Given the description of an element on the screen output the (x, y) to click on. 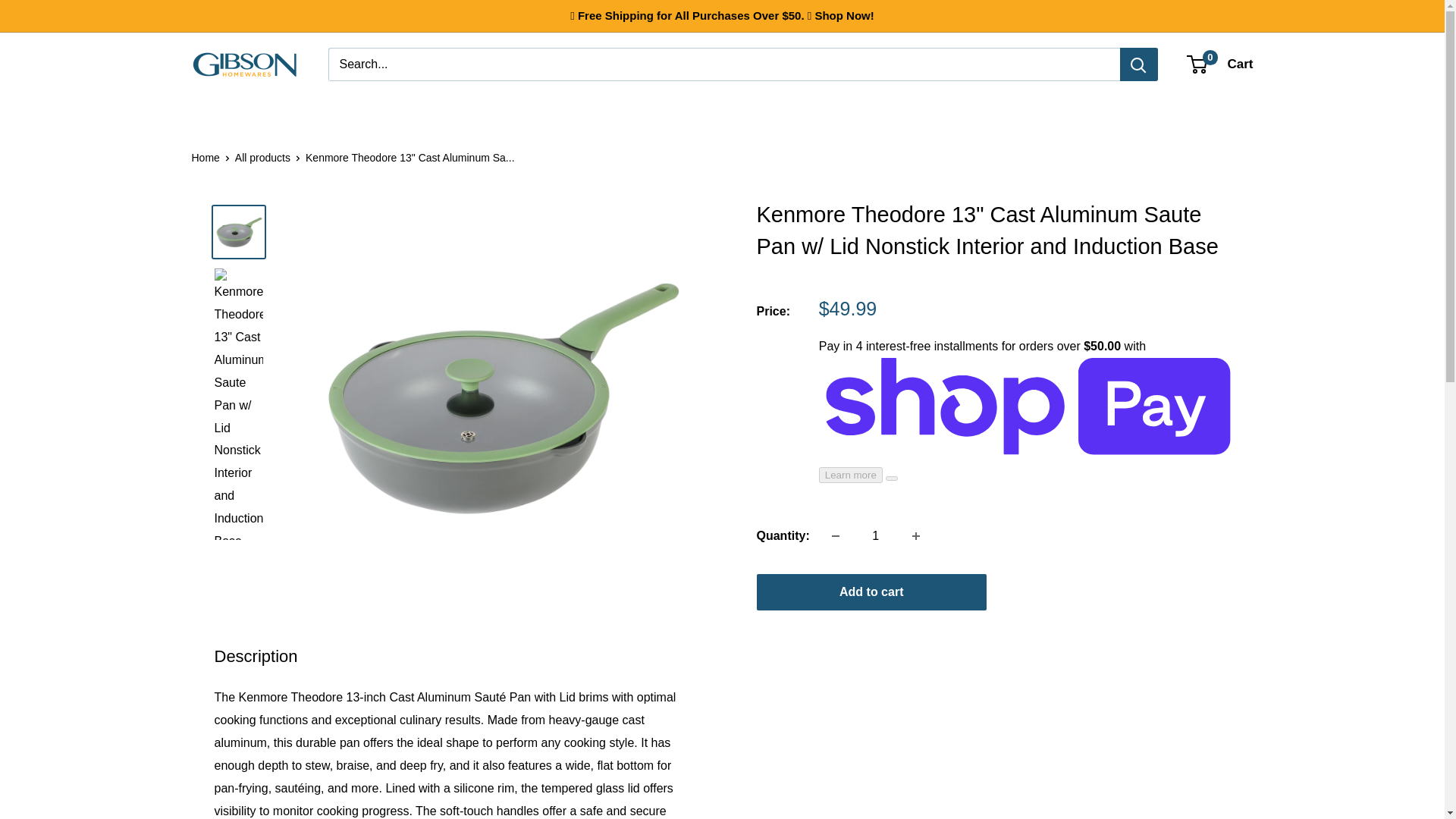
1 (875, 536)
Decrease quantity by 1 (835, 536)
Increase quantity by 1 (915, 536)
